Given the description of an element on the screen output the (x, y) to click on. 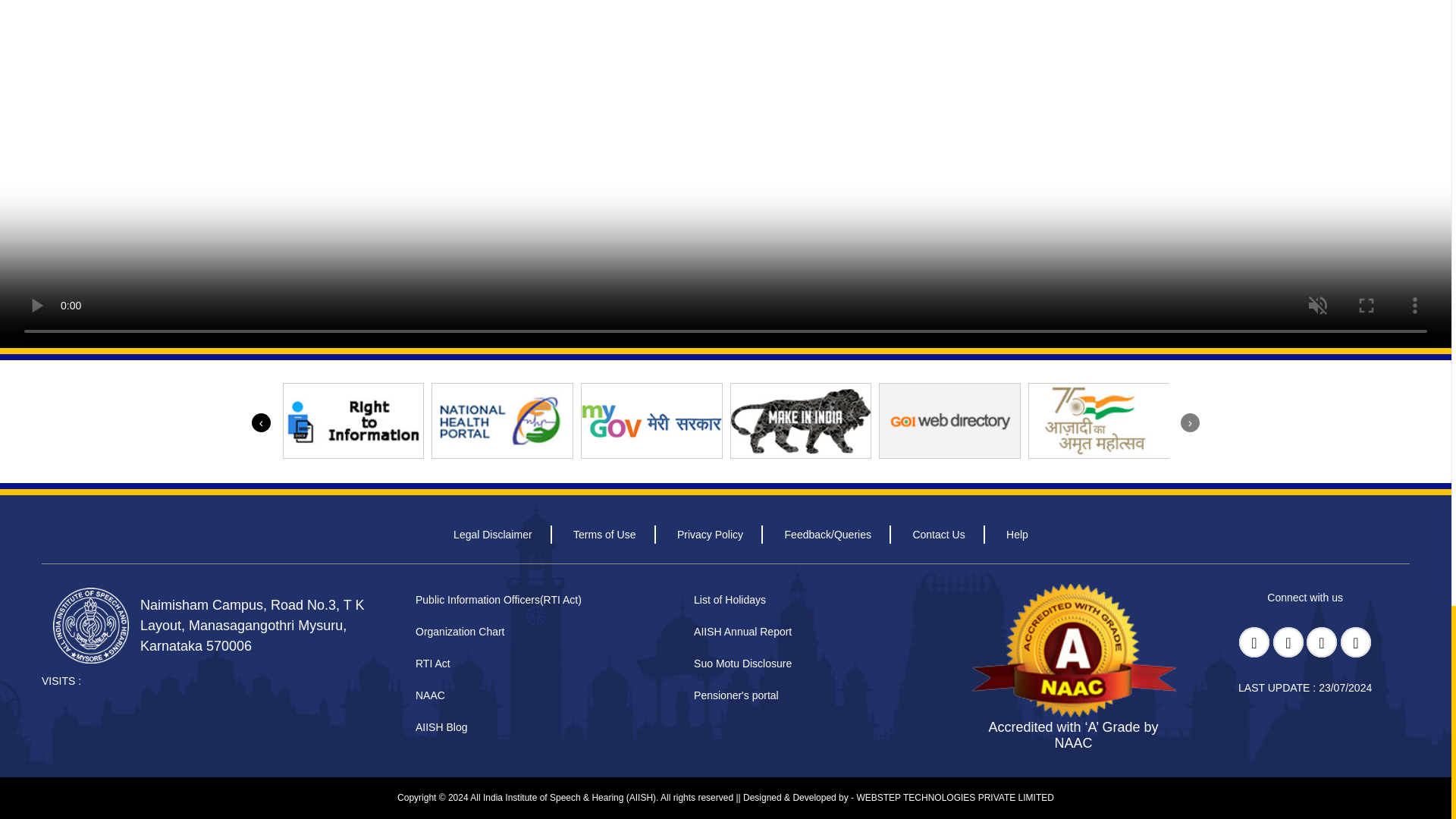
powr hit counter (136, 710)
